Given the description of an element on the screen output the (x, y) to click on. 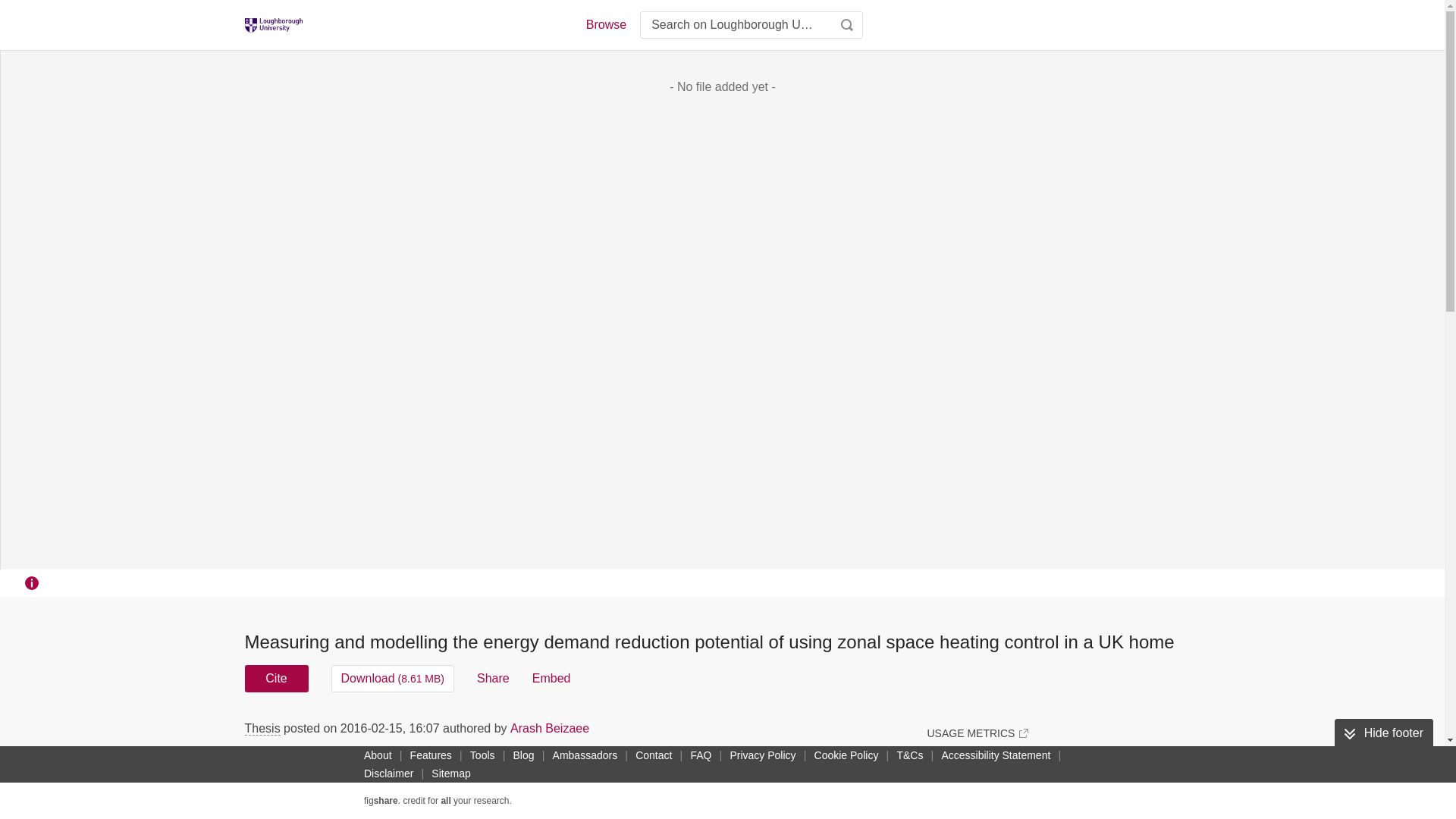
Cite (275, 678)
Privacy Policy (762, 755)
About (377, 755)
Embed (551, 678)
Share (493, 678)
Blog (523, 755)
Tools (482, 755)
Features (431, 755)
Browse (605, 24)
USAGE METRICS (976, 732)
